Given the description of an element on the screen output the (x, y) to click on. 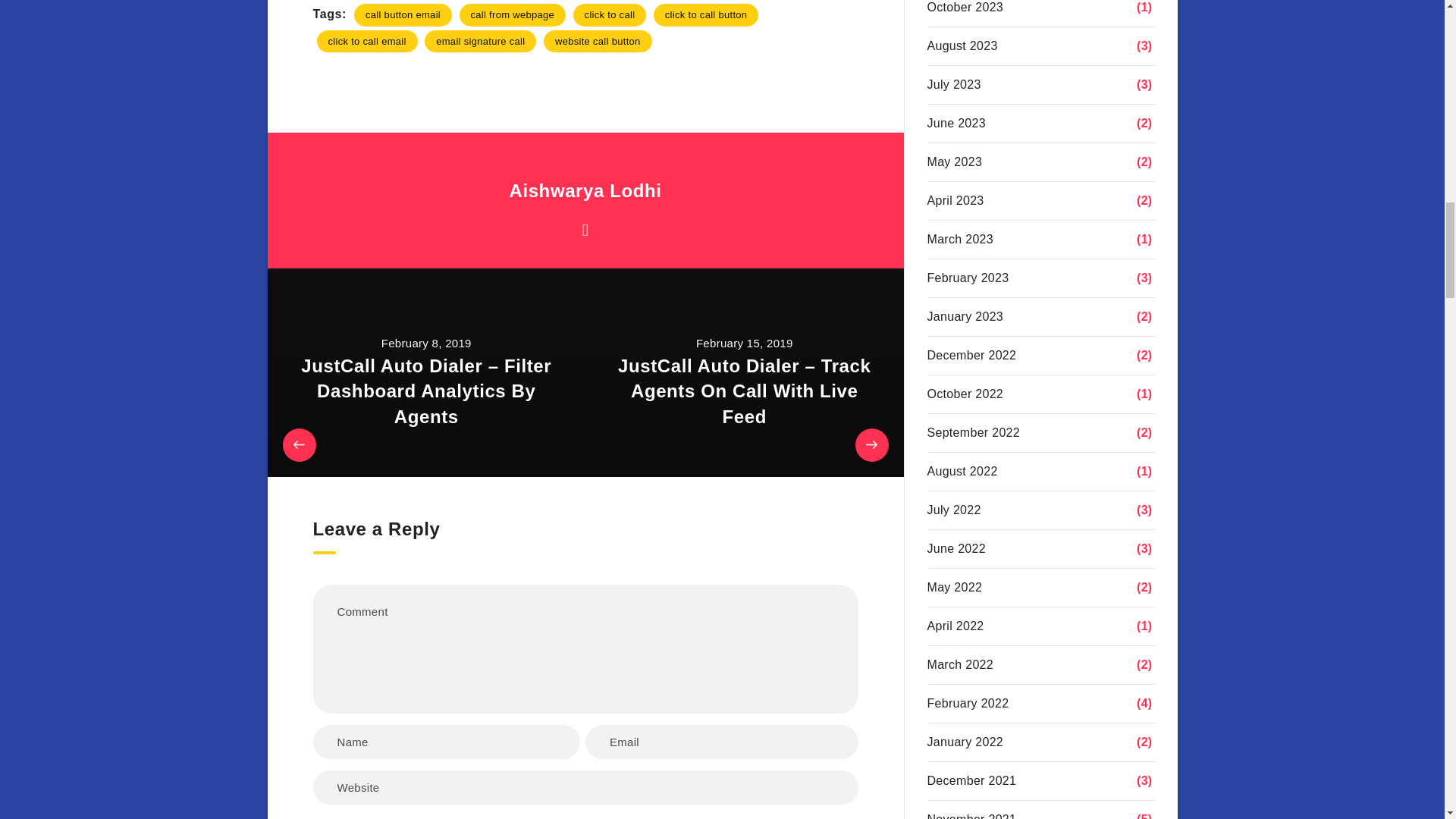
Aishwarya Lodhi (584, 191)
call from webpage (513, 14)
click to call button (705, 14)
call button email (402, 14)
website call button (597, 41)
click to call email (367, 41)
email signature call (480, 41)
click to call (609, 14)
